Given the description of an element on the screen output the (x, y) to click on. 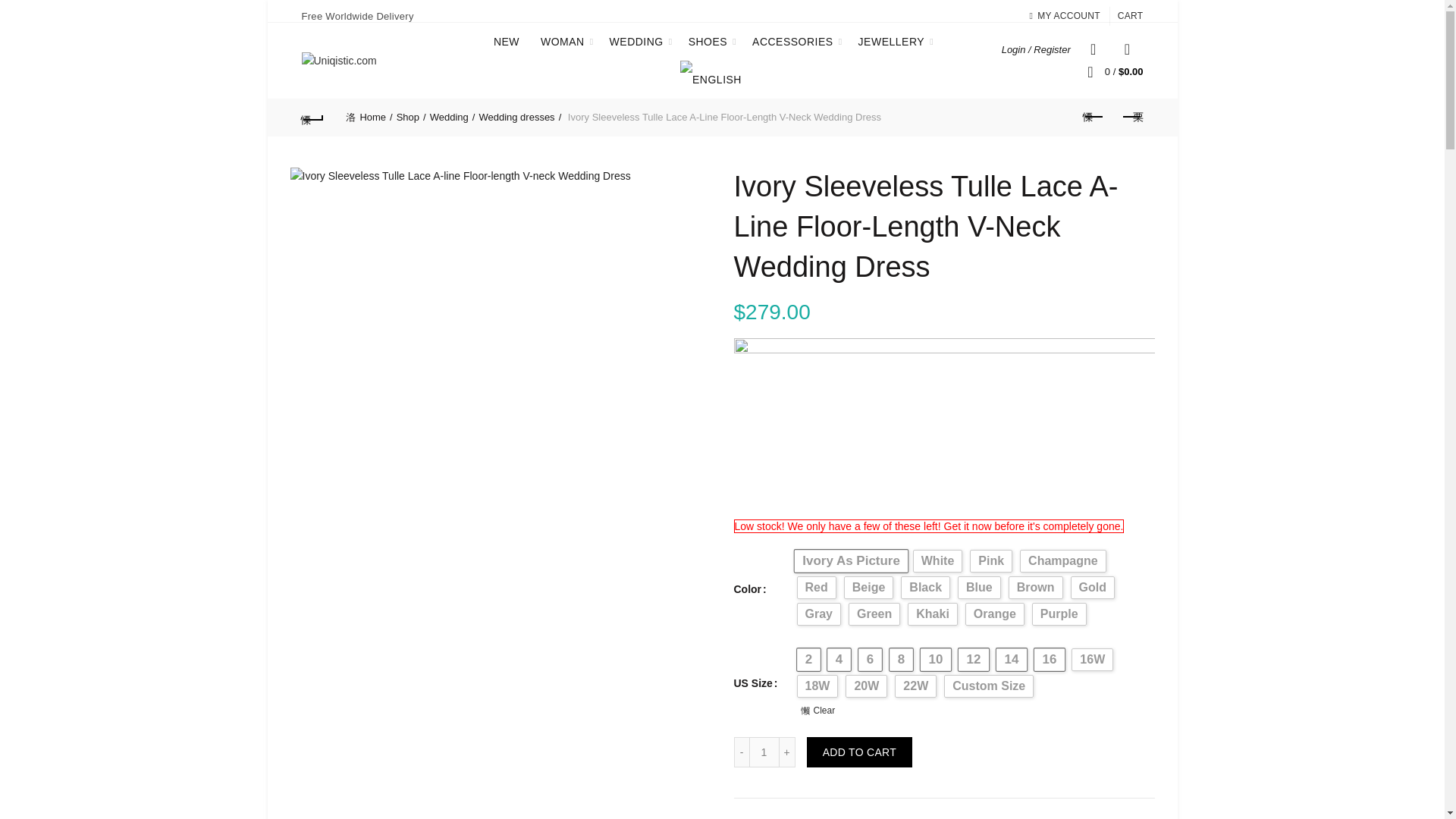
1 (763, 752)
